Given the description of an element on the screen output the (x, y) to click on. 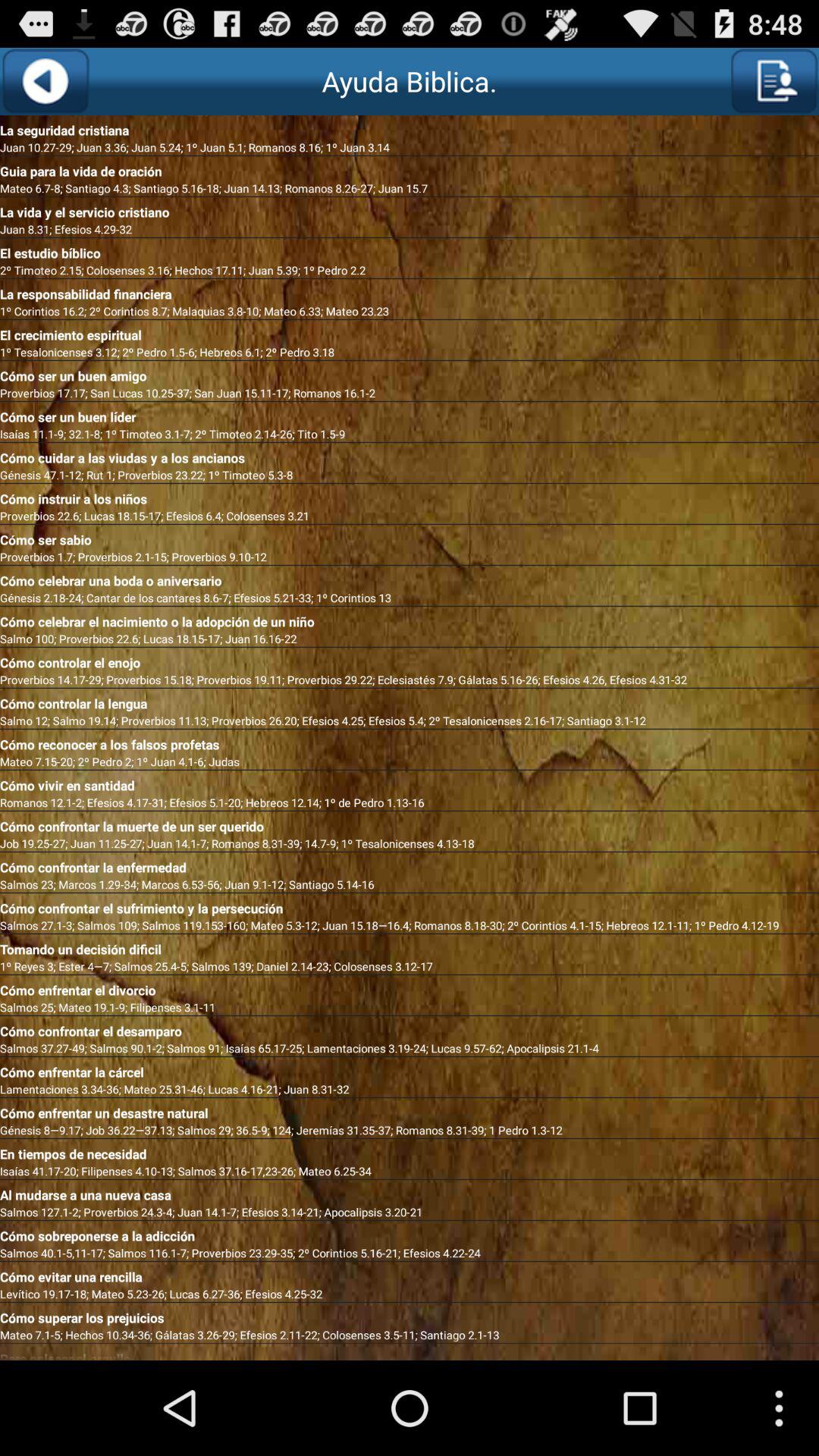
select the al mudarse a (409, 1192)
